Given the description of an element on the screen output the (x, y) to click on. 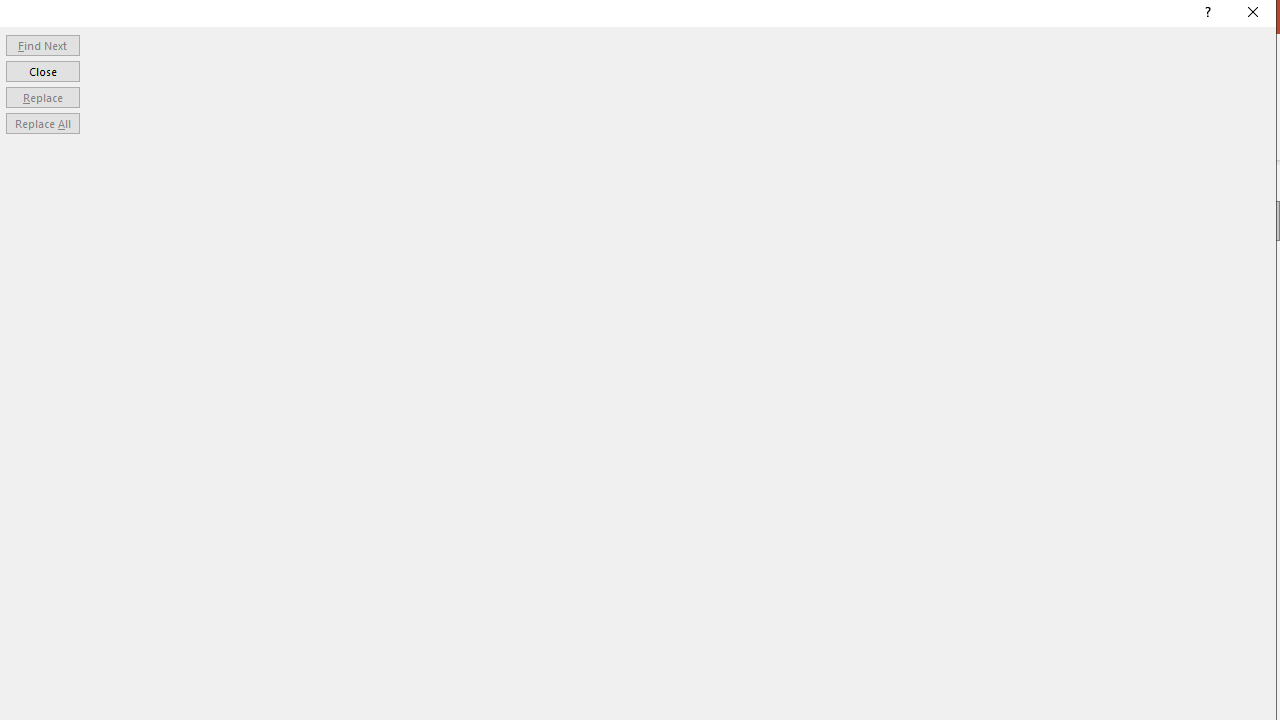
Context help (1206, 14)
Replace All (42, 123)
Replace (42, 96)
Find Next (42, 44)
